Given the description of an element on the screen output the (x, y) to click on. 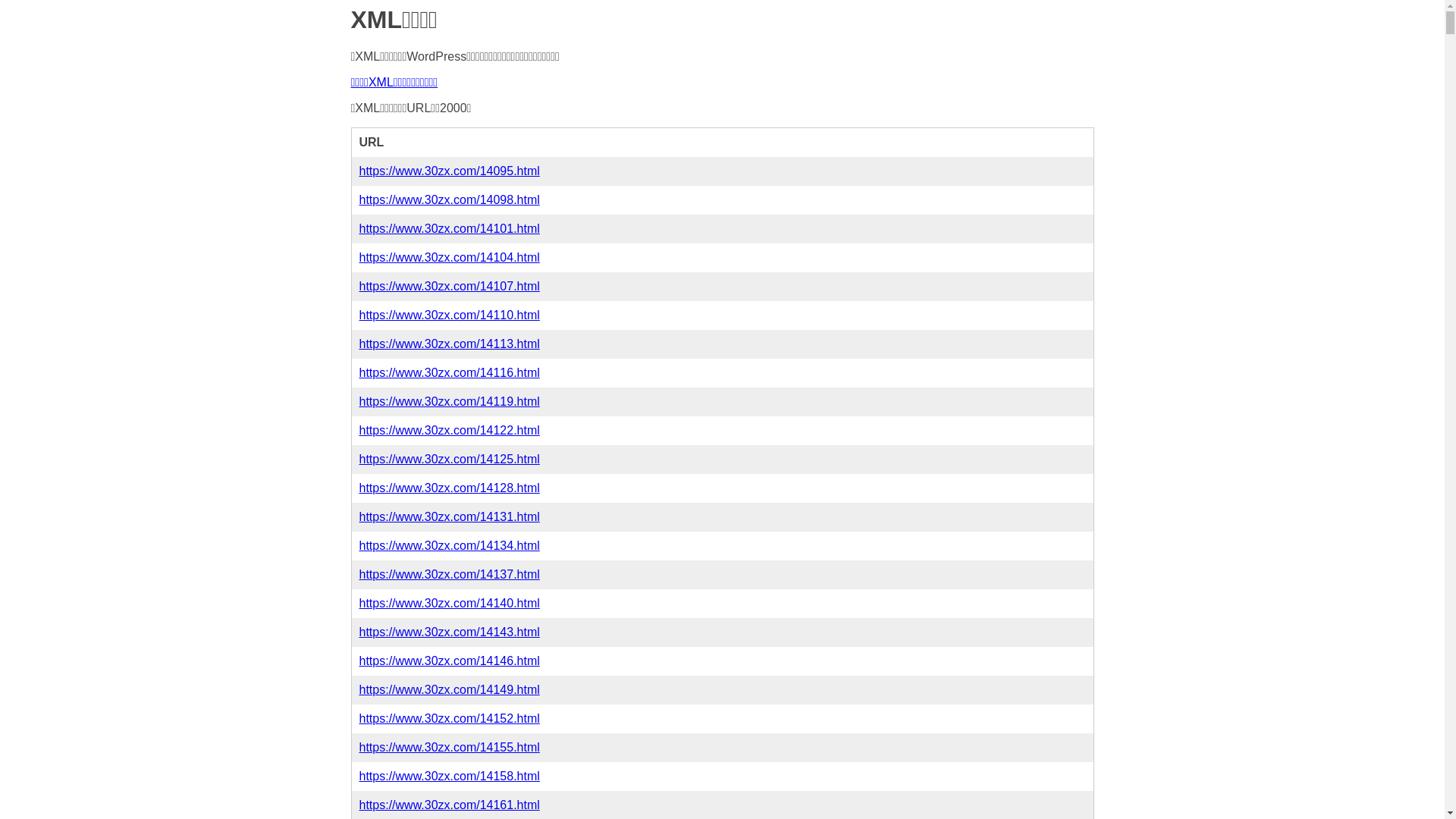
https://www.30zx.com/14152.html Element type: text (449, 718)
https://www.30zx.com/14122.html Element type: text (449, 429)
https://www.30zx.com/14155.html Element type: text (449, 746)
https://www.30zx.com/14110.html Element type: text (449, 314)
https://www.30zx.com/14149.html Element type: text (449, 689)
https://www.30zx.com/14143.html Element type: text (449, 631)
https://www.30zx.com/14098.html Element type: text (449, 199)
https://www.30zx.com/14158.html Element type: text (449, 775)
https://www.30zx.com/14137.html Element type: text (449, 573)
https://www.30zx.com/14101.html Element type: text (449, 228)
https://www.30zx.com/14128.html Element type: text (449, 487)
https://www.30zx.com/14146.html Element type: text (449, 660)
https://www.30zx.com/14134.html Element type: text (449, 545)
https://www.30zx.com/14131.html Element type: text (449, 516)
https://www.30zx.com/14113.html Element type: text (449, 343)
https://www.30zx.com/14107.html Element type: text (449, 285)
https://www.30zx.com/14095.html Element type: text (449, 170)
https://www.30zx.com/14116.html Element type: text (449, 372)
https://www.30zx.com/14161.html Element type: text (449, 804)
https://www.30zx.com/14119.html Element type: text (449, 401)
https://www.30zx.com/14140.html Element type: text (449, 602)
https://www.30zx.com/14104.html Element type: text (449, 257)
https://www.30zx.com/14125.html Element type: text (449, 458)
